Given the description of an element on the screen output the (x, y) to click on. 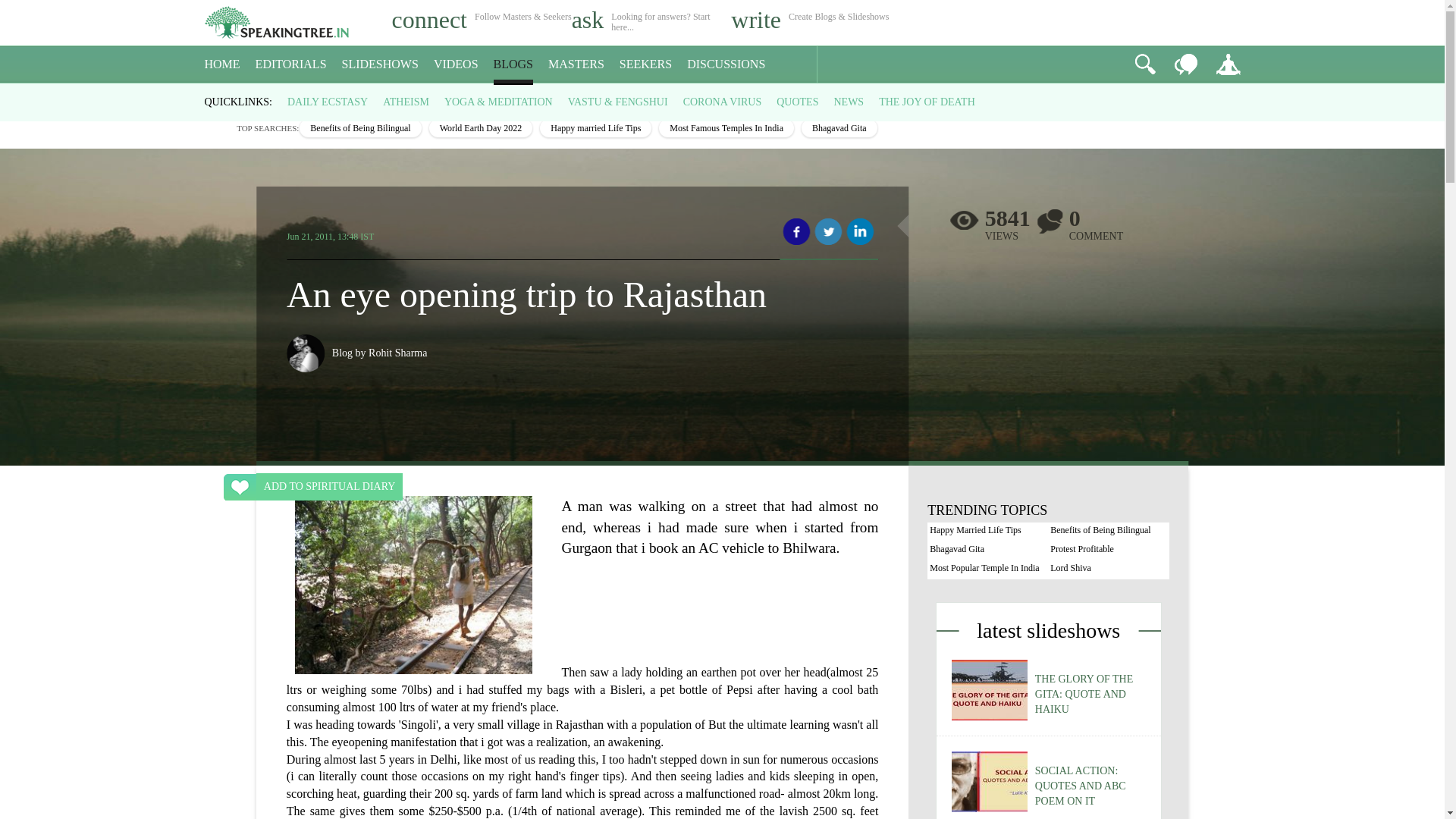
NEWS (847, 101)
VIDEOS (456, 64)
Share on Facebook (796, 231)
Share on Twitter (828, 231)
BLOGS (512, 64)
SLIDESHOWS (380, 64)
3rd party ad content (582, 729)
THE JOY OF DEATH (927, 101)
Blogs (251, 96)
HOME (222, 64)
